Given the description of an element on the screen output the (x, y) to click on. 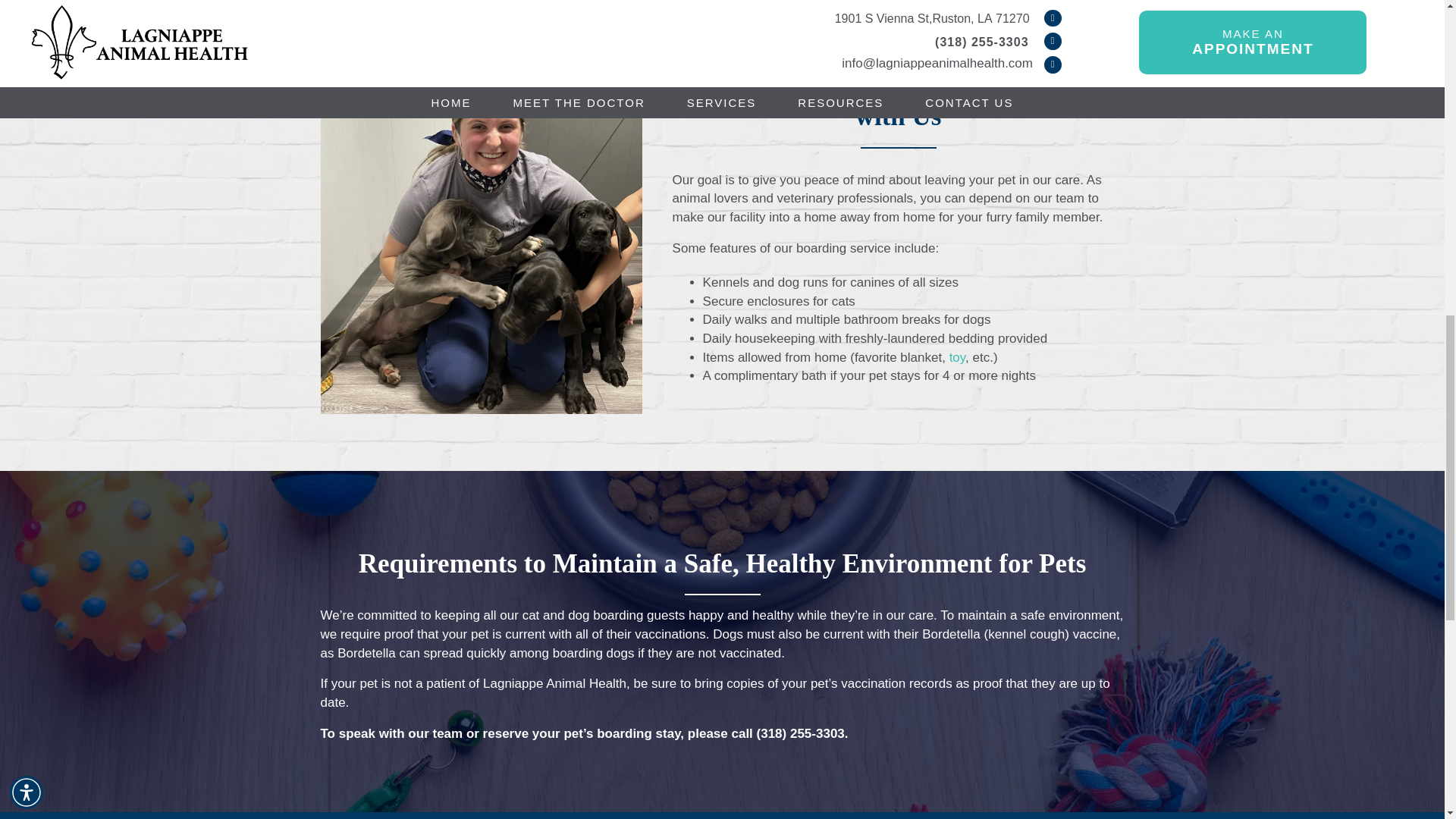
toy (957, 357)
